Given the description of an element on the screen output the (x, y) to click on. 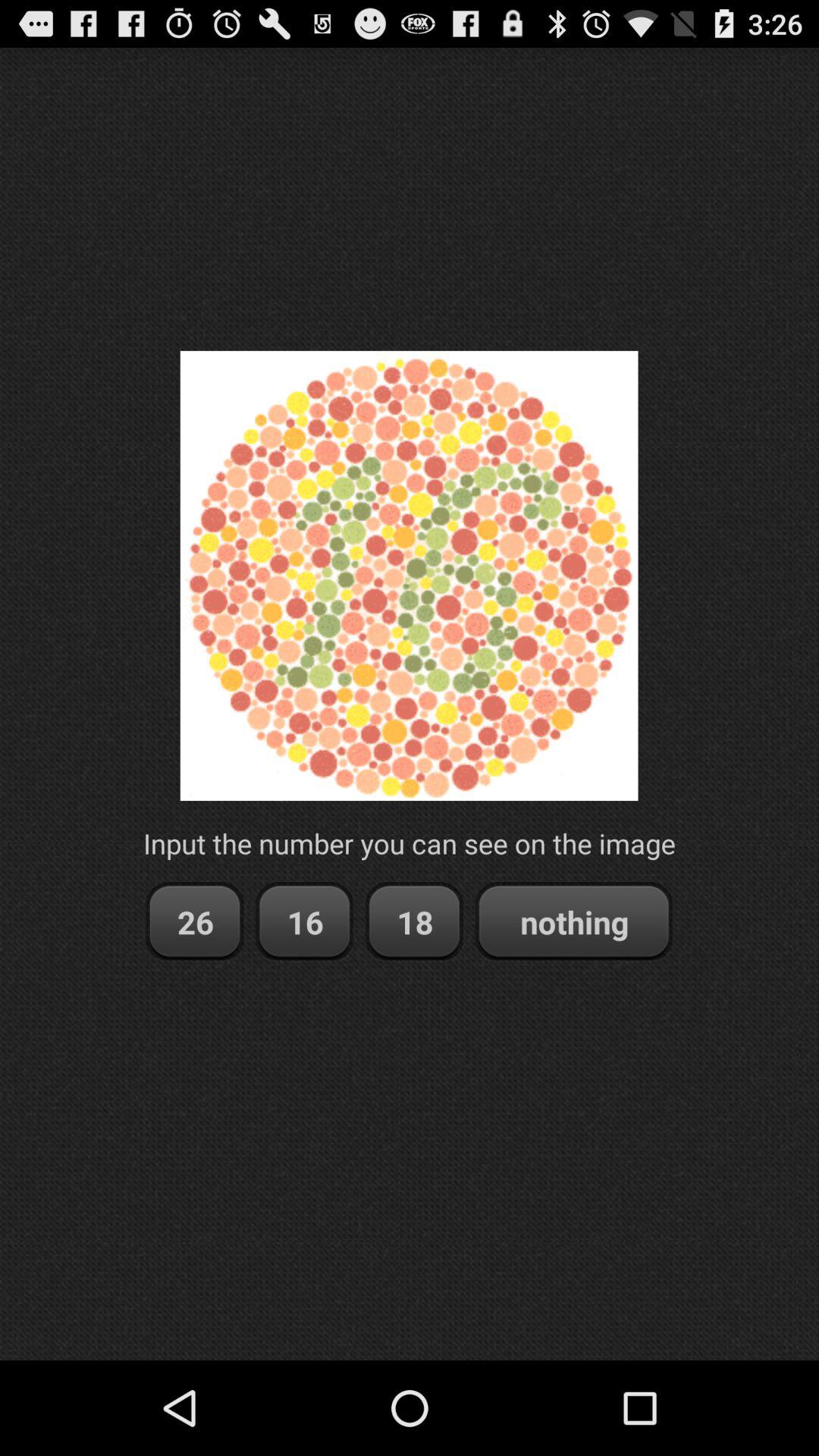
select item next to the 16 (194, 921)
